Given the description of an element on the screen output the (x, y) to click on. 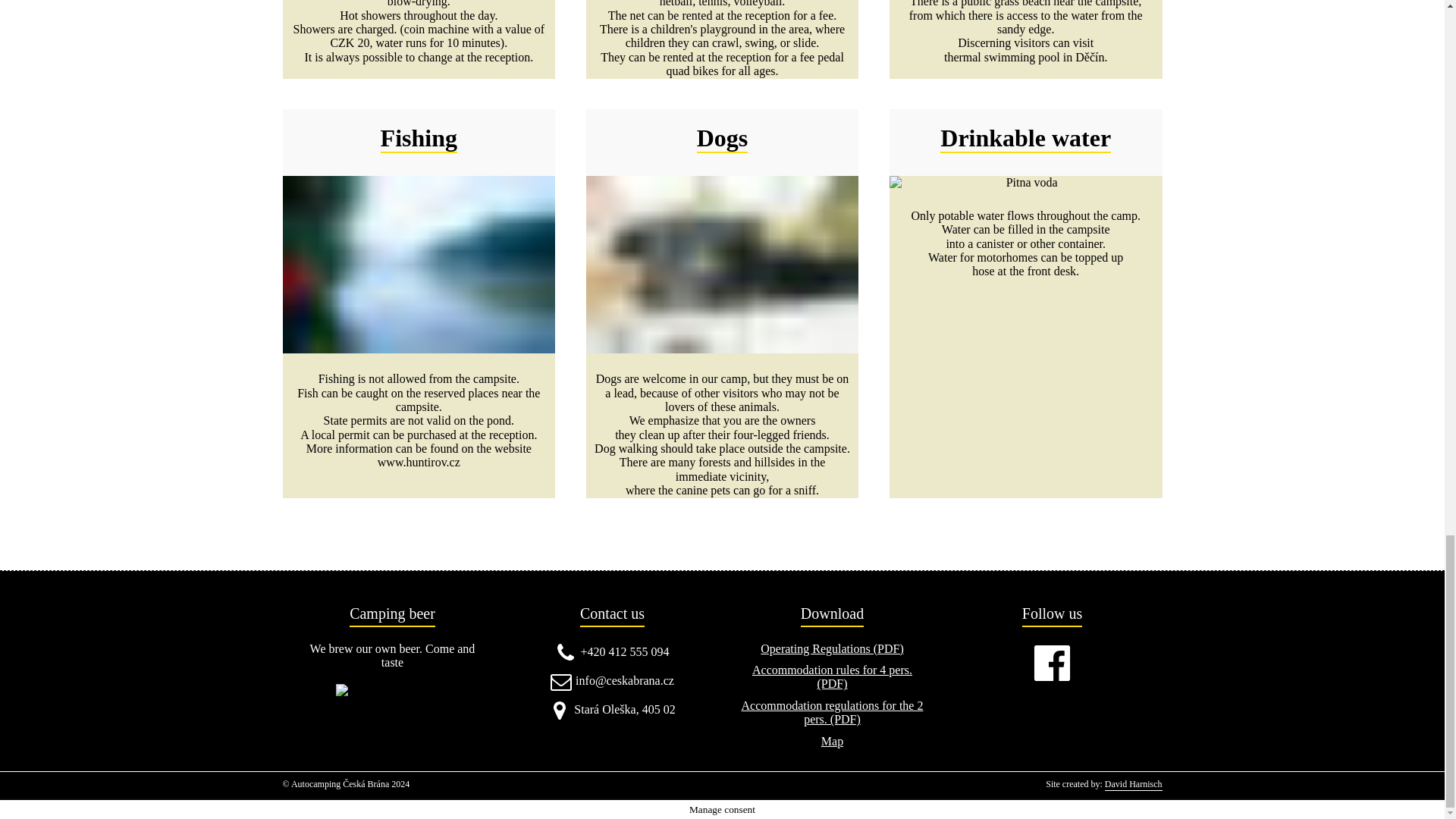
Map (832, 741)
